Given the description of an element on the screen output the (x, y) to click on. 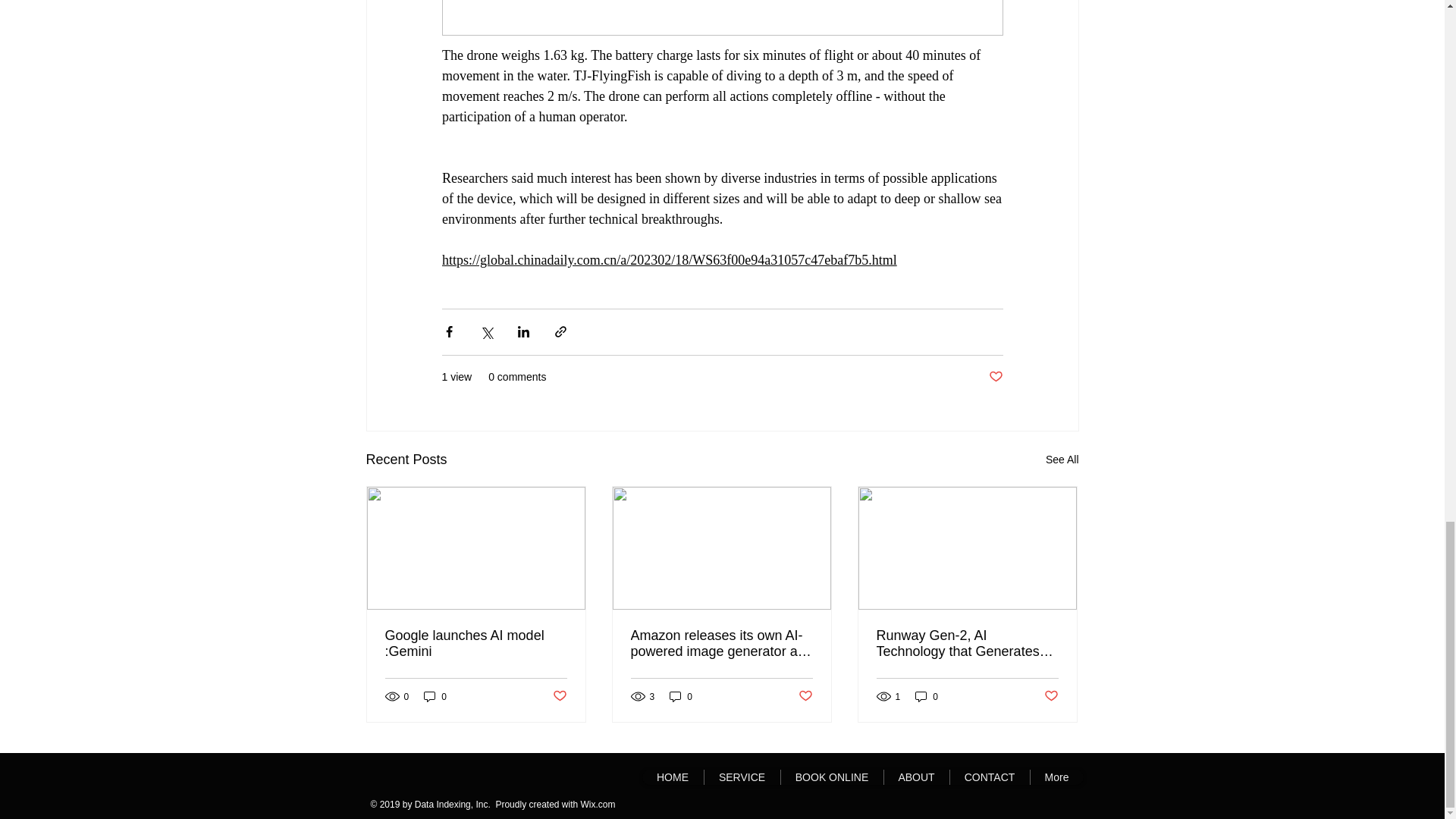
Post not marked as liked (558, 696)
Runway Gen-2, AI Technology that Generates Video from Images (967, 644)
Post not marked as liked (804, 696)
Google launches AI model :Gemini (476, 644)
0 (435, 696)
SERVICE (741, 776)
See All (1061, 459)
0 (681, 696)
The drone (468, 55)
Post not marked as liked (1050, 696)
0 (926, 696)
Post not marked as liked (995, 376)
BOOK ONLINE (830, 776)
HOME (672, 776)
